Given the description of an element on the screen output the (x, y) to click on. 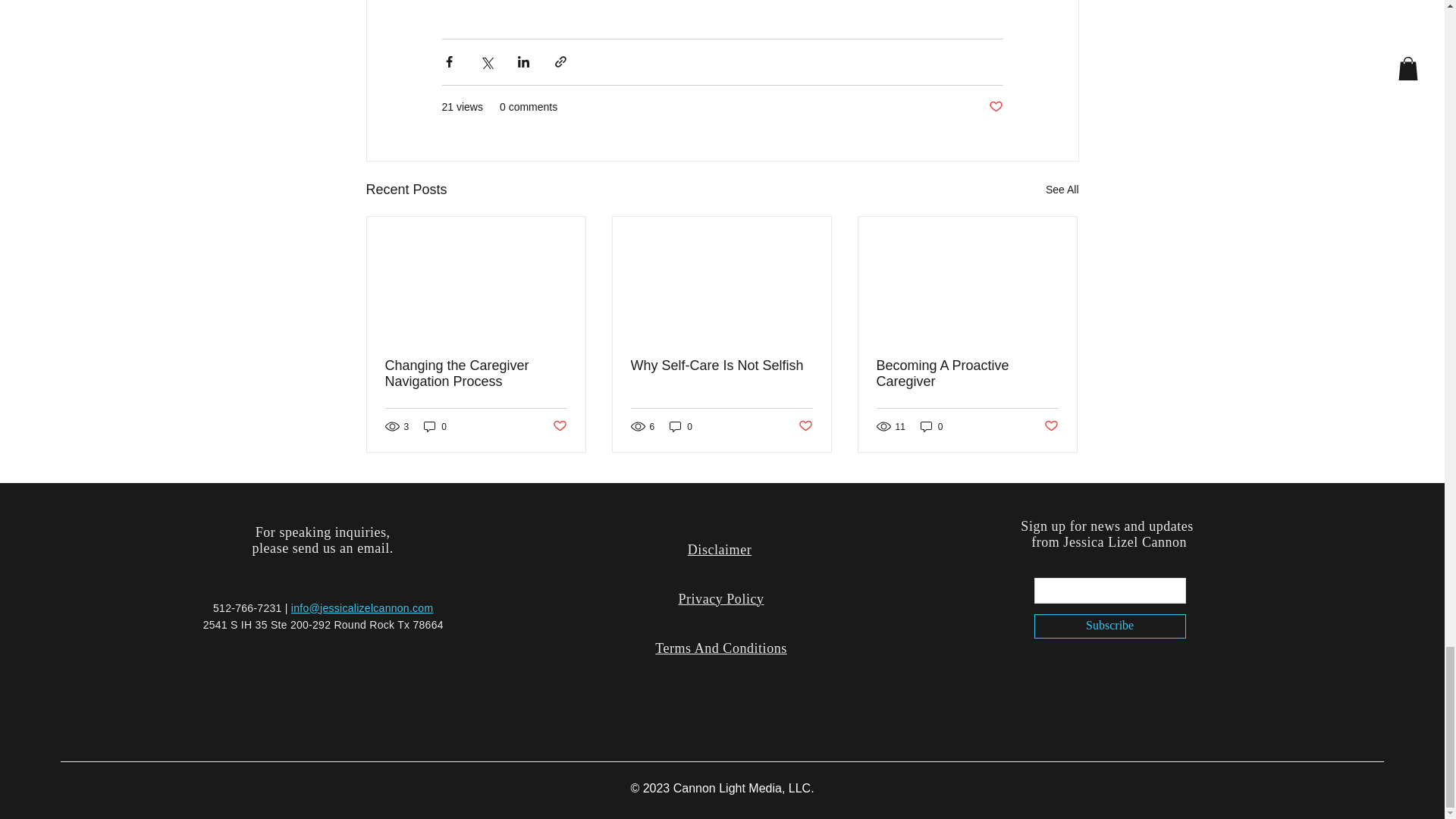
Becoming A Proactive Caregiver (967, 373)
Why Self-Care Is Not Selfish (721, 365)
0 (435, 426)
Changing the Caregiver Navigation Process (476, 373)
Post not marked as liked (804, 426)
0 (931, 426)
Post not marked as liked (995, 106)
See All (1061, 189)
Post not marked as liked (1050, 426)
0 (681, 426)
Post not marked as liked (558, 426)
